Given the description of an element on the screen output the (x, y) to click on. 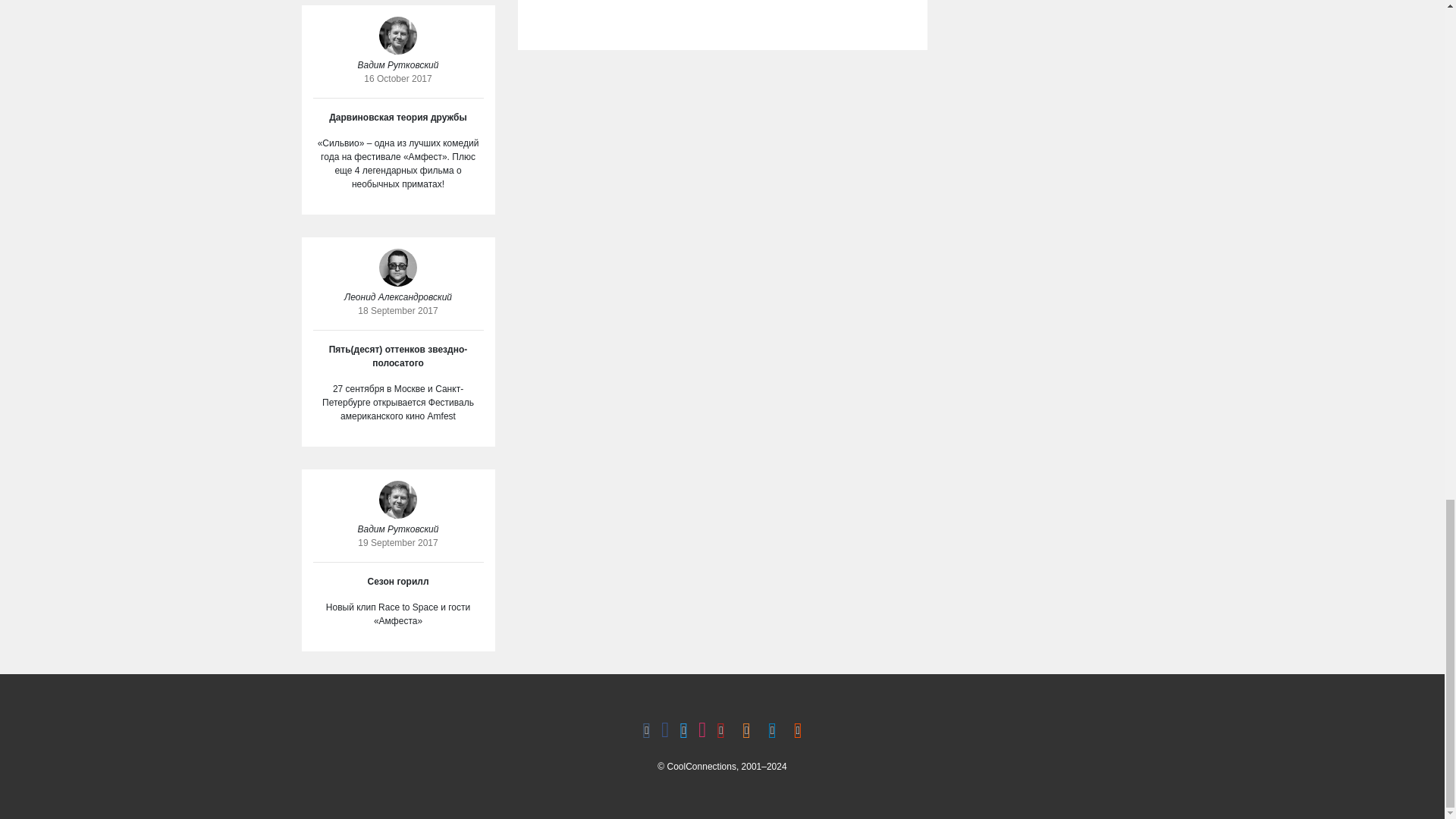
Odnoklassniki (746, 730)
YouTube (721, 730)
Twitter (683, 730)
Vkontakte (646, 730)
Telegram (772, 730)
Soundcloud (798, 730)
